Given the description of an element on the screen output the (x, y) to click on. 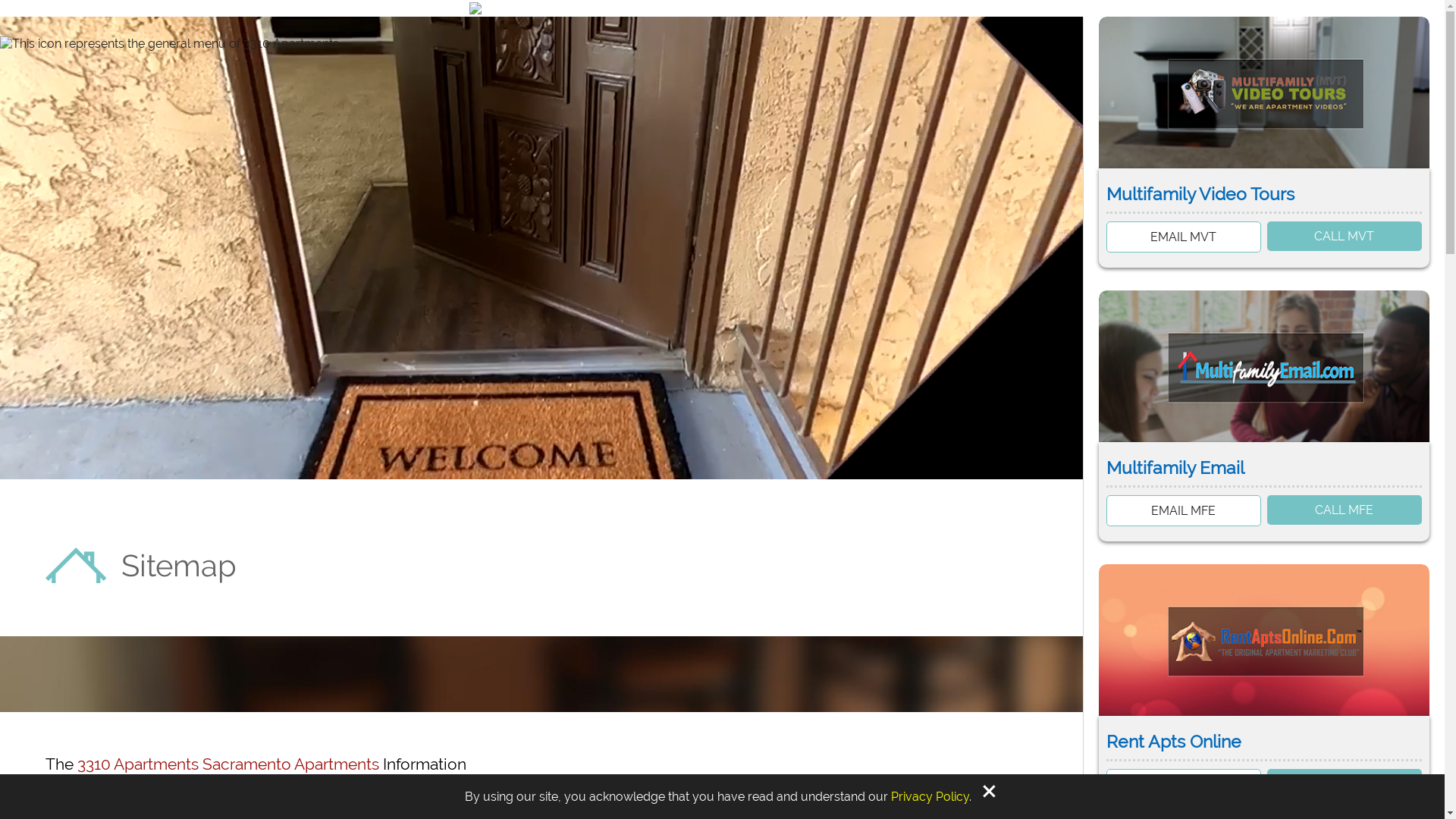
EMAIL MFE Element type: text (1183, 510)
CALL RAO Element type: text (1344, 783)
CALL MFE Element type: text (1344, 509)
Message of 3310 Pointe Apartments Element type: hover (722, 8)
Multifamily Video Tours photo Element type: hover (1263, 92)
Multifamily Video Tours Element type: text (1263, 198)
Multifamily Email Element type: text (1263, 472)
Multifamily Email photo Element type: hover (1263, 366)
Navigational page links menu for 3310 Apartments Element type: hover (170, 43)
CALL MVT Element type: text (1344, 236)
Privacy Policy Element type: text (929, 796)
Rent Apts Online Element type: text (1263, 746)
EMAIL RAO Element type: text (1183, 784)
EMAIL MVT Element type: text (1183, 236)
Rent Apts Online photo Element type: hover (1263, 639)
